Given the description of an element on the screen output the (x, y) to click on. 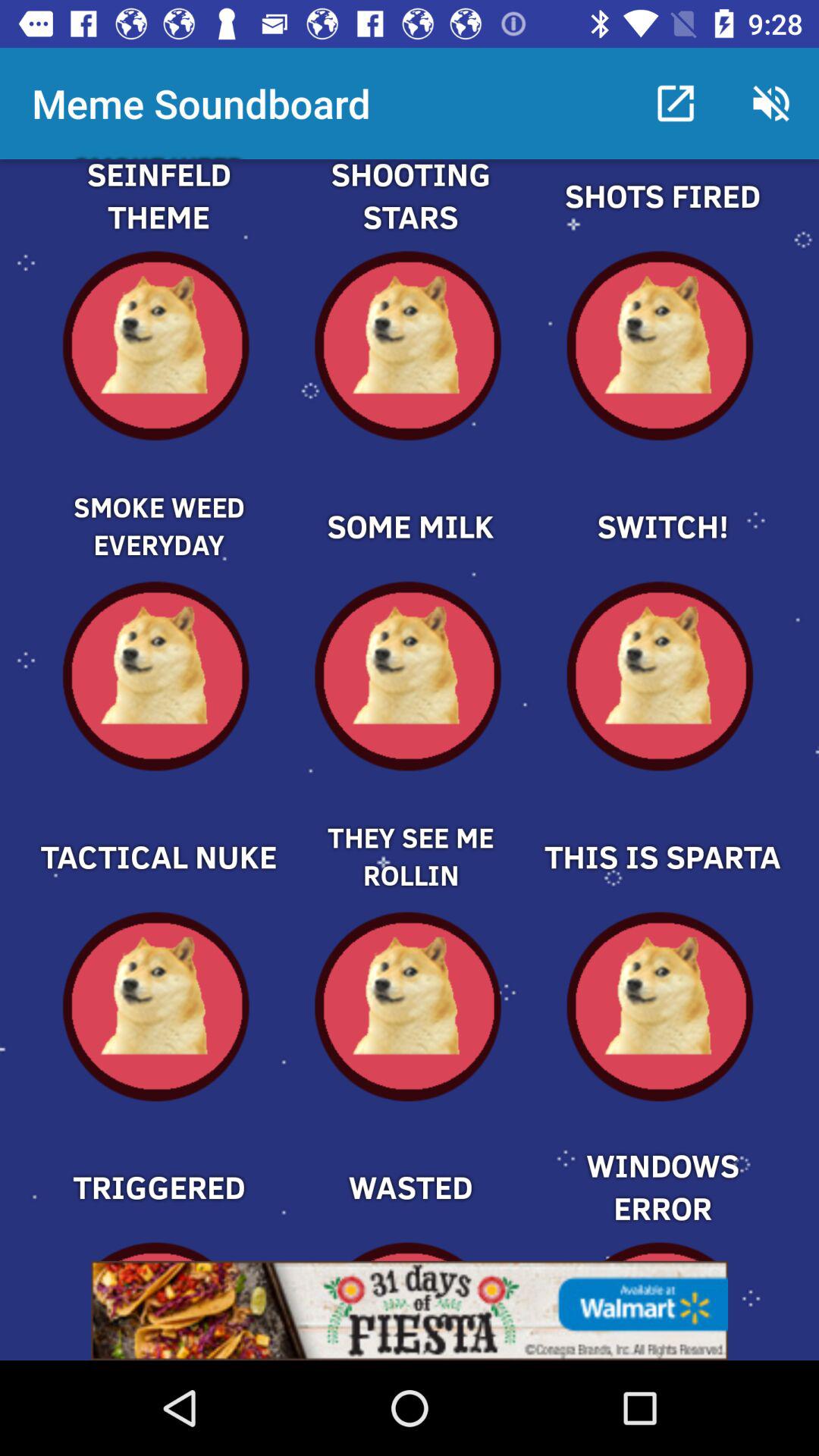
play the switch meme (660, 500)
